Given the description of an element on the screen output the (x, y) to click on. 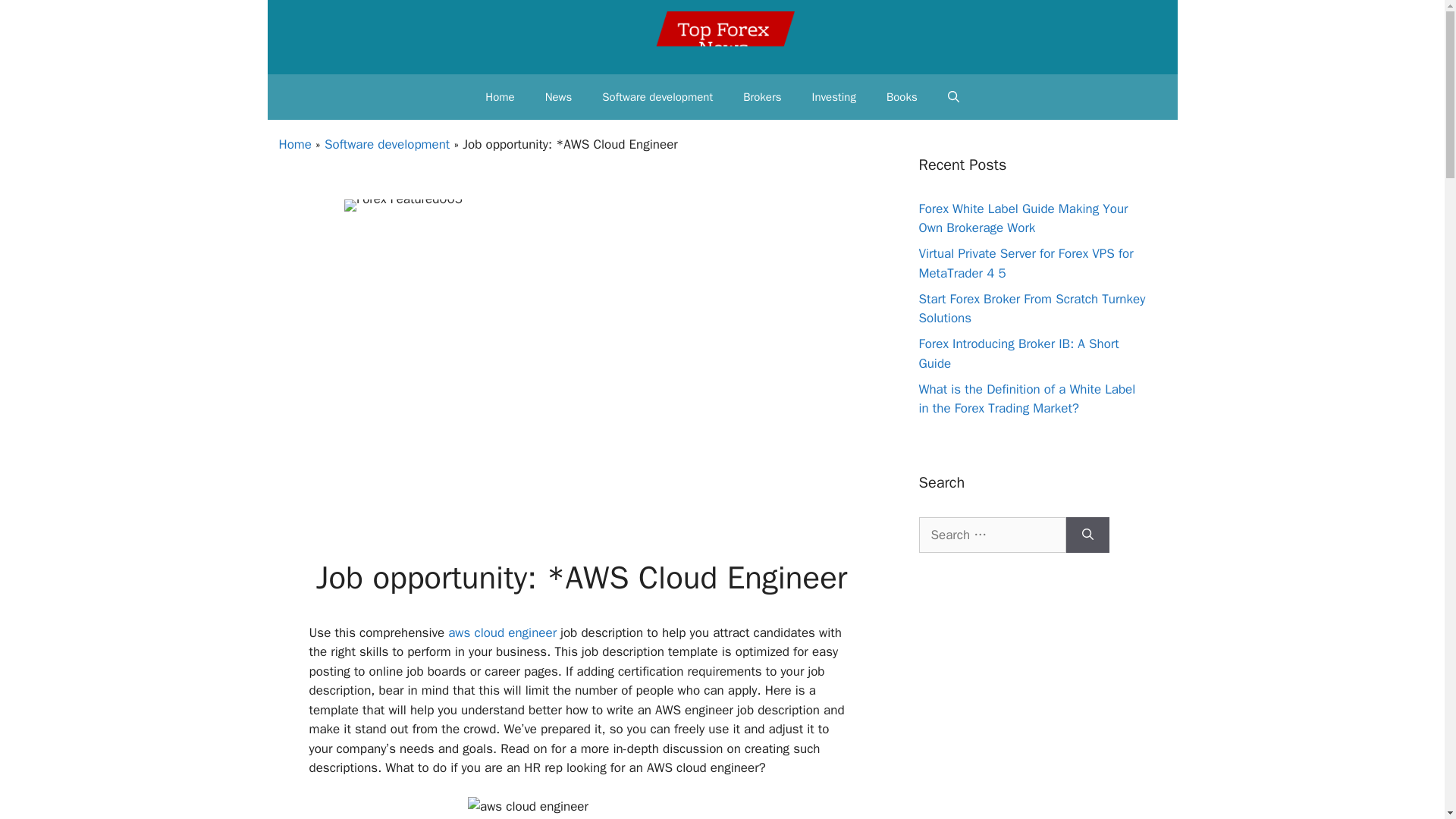
News (558, 96)
Home (295, 144)
Forex Introducing Broker IB: A Short Guide (1018, 353)
Brokers (762, 96)
Software development (386, 144)
Search for: (991, 534)
aws cloud engineer (502, 632)
Home (499, 96)
Books (901, 96)
